Given the description of an element on the screen output the (x, y) to click on. 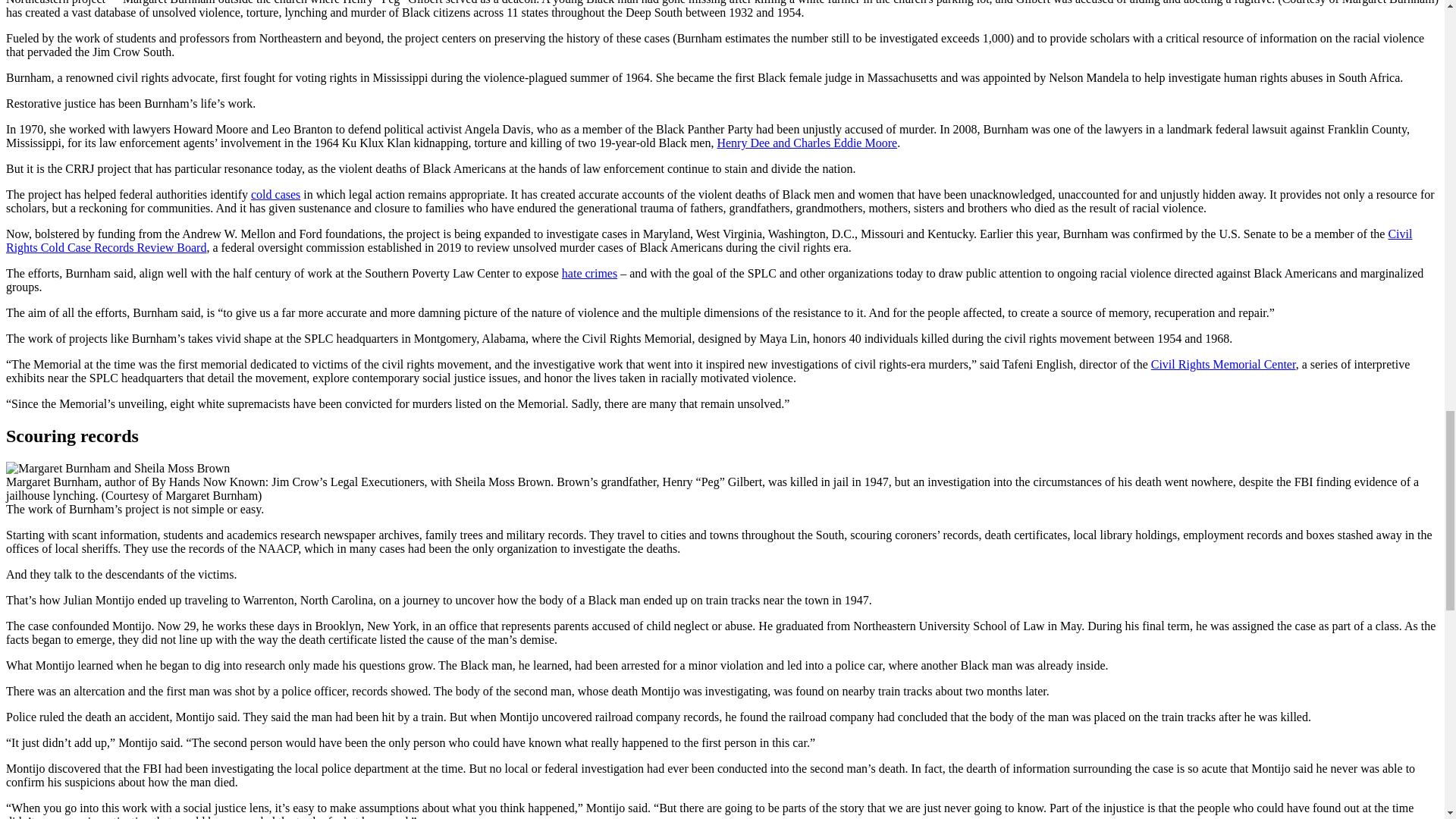
margaret-burnham-sheila-moss-brown (117, 468)
